Given the description of an element on the screen output the (x, y) to click on. 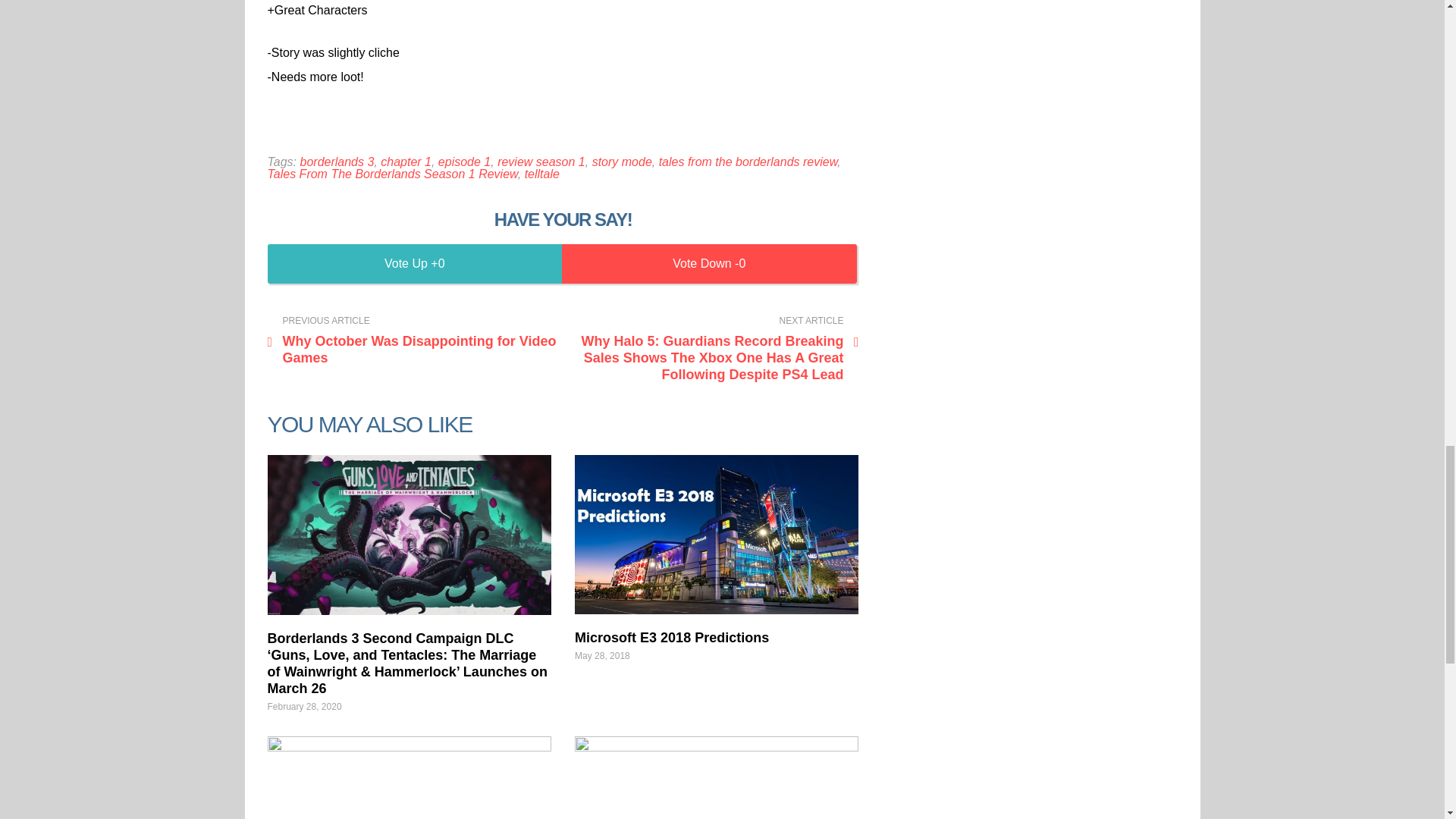
Why October Was Disappointing for Video Games (411, 341)
Microsoft E3 2018 Predictions (671, 637)
Borderlands 3 Season Pass 2 Announced (408, 777)
story mode (622, 161)
chapter 1 (405, 161)
episode 1 (464, 161)
borderlands 3 (336, 161)
Microsoft E3 2018 Predictions (717, 534)
review season 1 (541, 161)
